Given the description of an element on the screen output the (x, y) to click on. 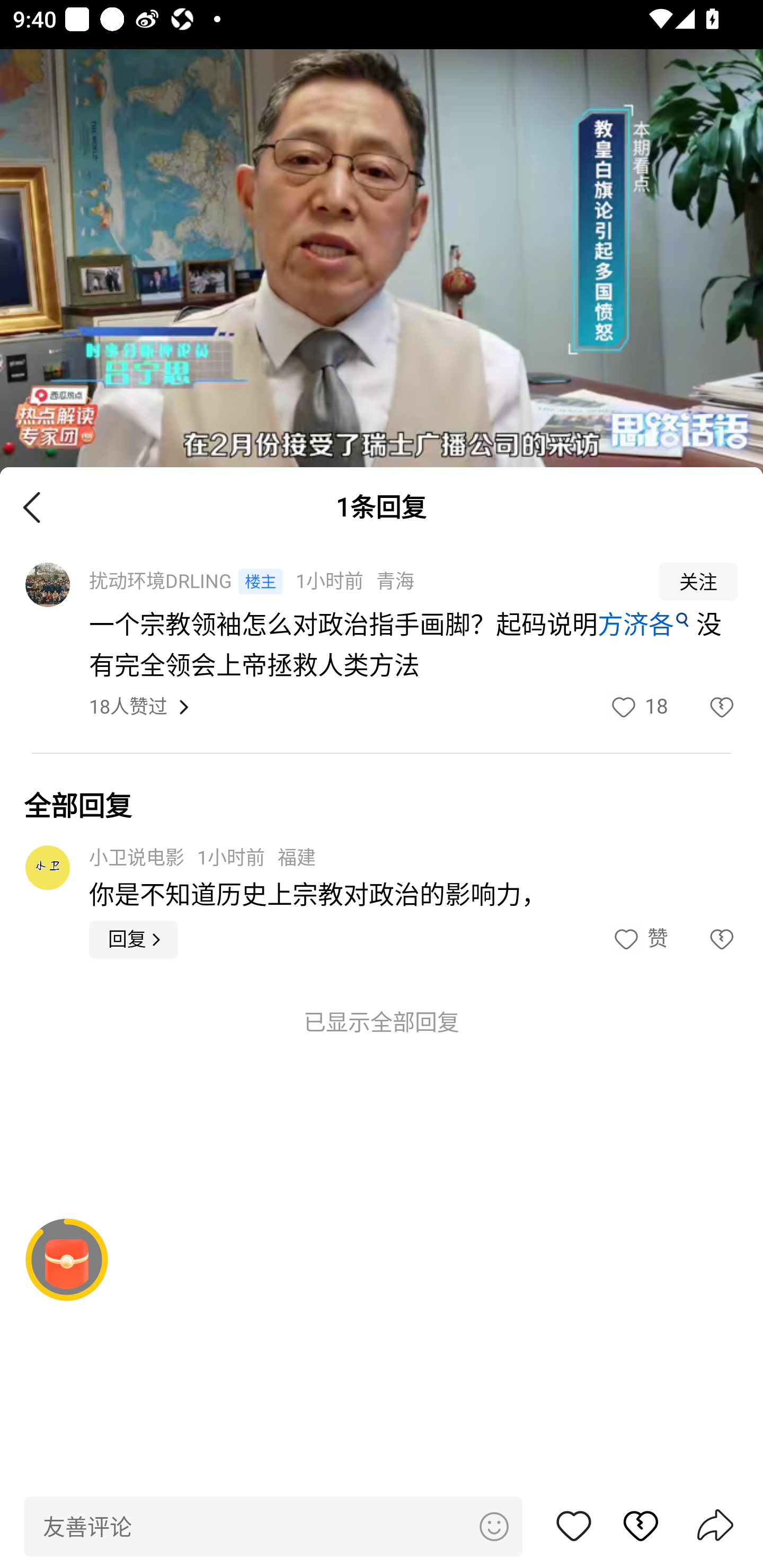
关闭 (31, 506)
关注 (698, 581)
扰动环境DRLING 1小时前 青海 (362, 581)
18人赞过 (128, 707)
赞18 赞 (637, 706)
踩 (702, 706)
小卫说电影 1小时前 福建 (202, 857)
回复 (133, 939)
赞 (638, 938)
踩 (702, 938)
阅读赚金币 (66, 1259)
分享 (715, 1526)
友善评论 表情 (272, 1526)
赞 (574, 1526)
踩 (630, 1526)
表情 (493, 1526)
